Given the description of an element on the screen output the (x, y) to click on. 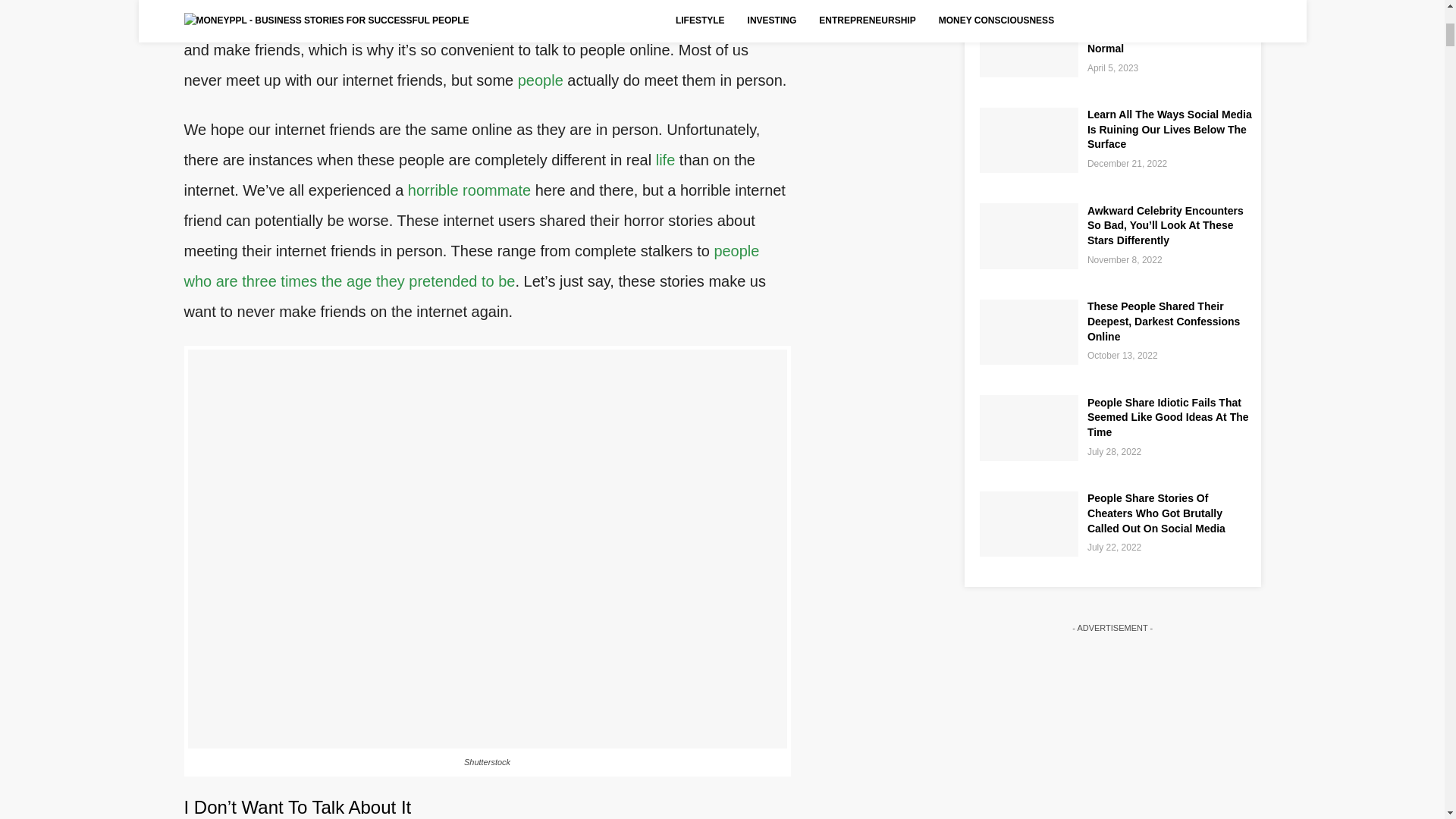
horrible roommate (469, 190)
people (540, 80)
people who are three times the age they pretended to be (470, 265)
life (665, 159)
